Given the description of an element on the screen output the (x, y) to click on. 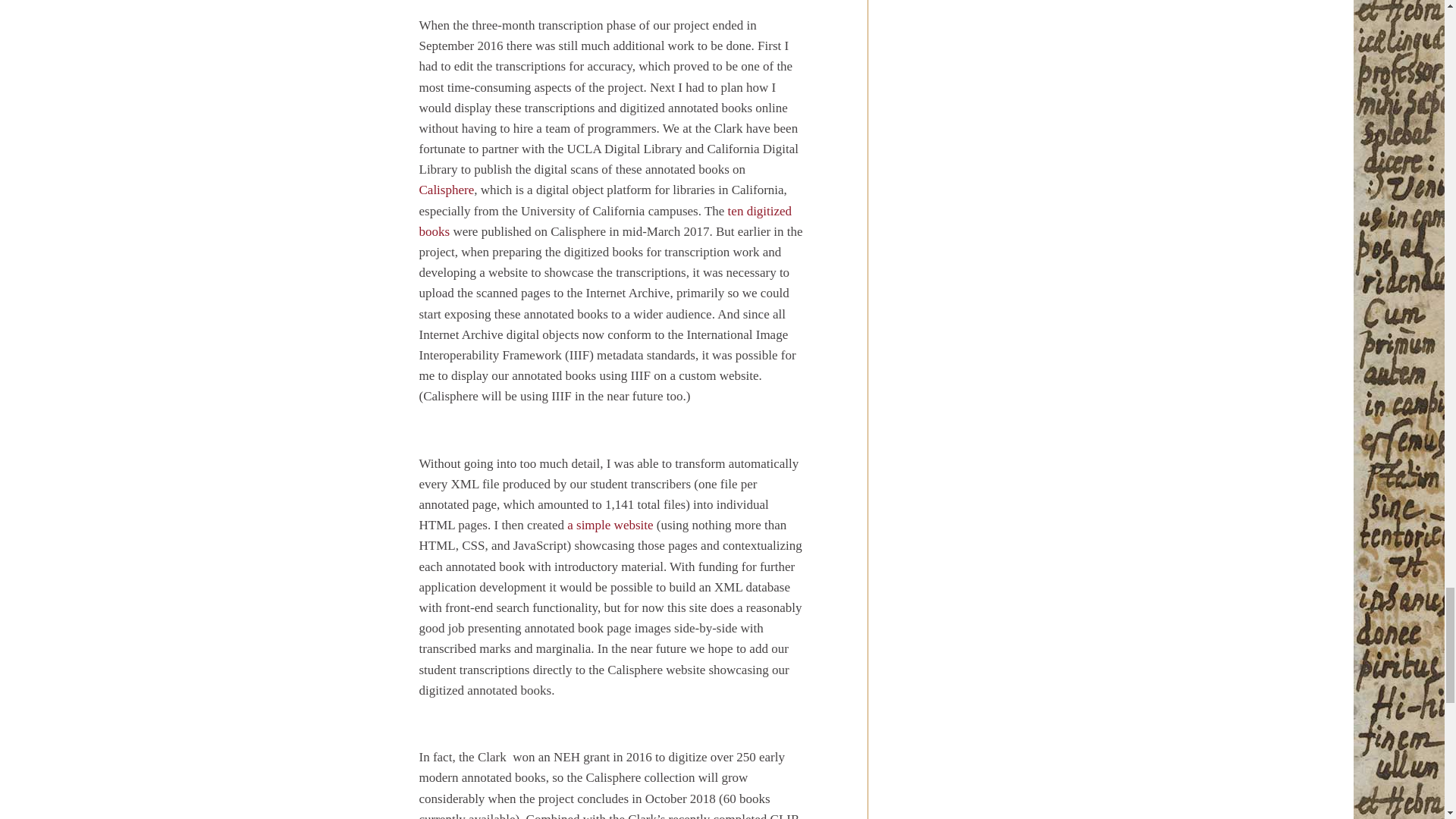
Calisphere (446, 189)
a simple website (609, 524)
ten digitized books (605, 221)
